Given the description of an element on the screen output the (x, y) to click on. 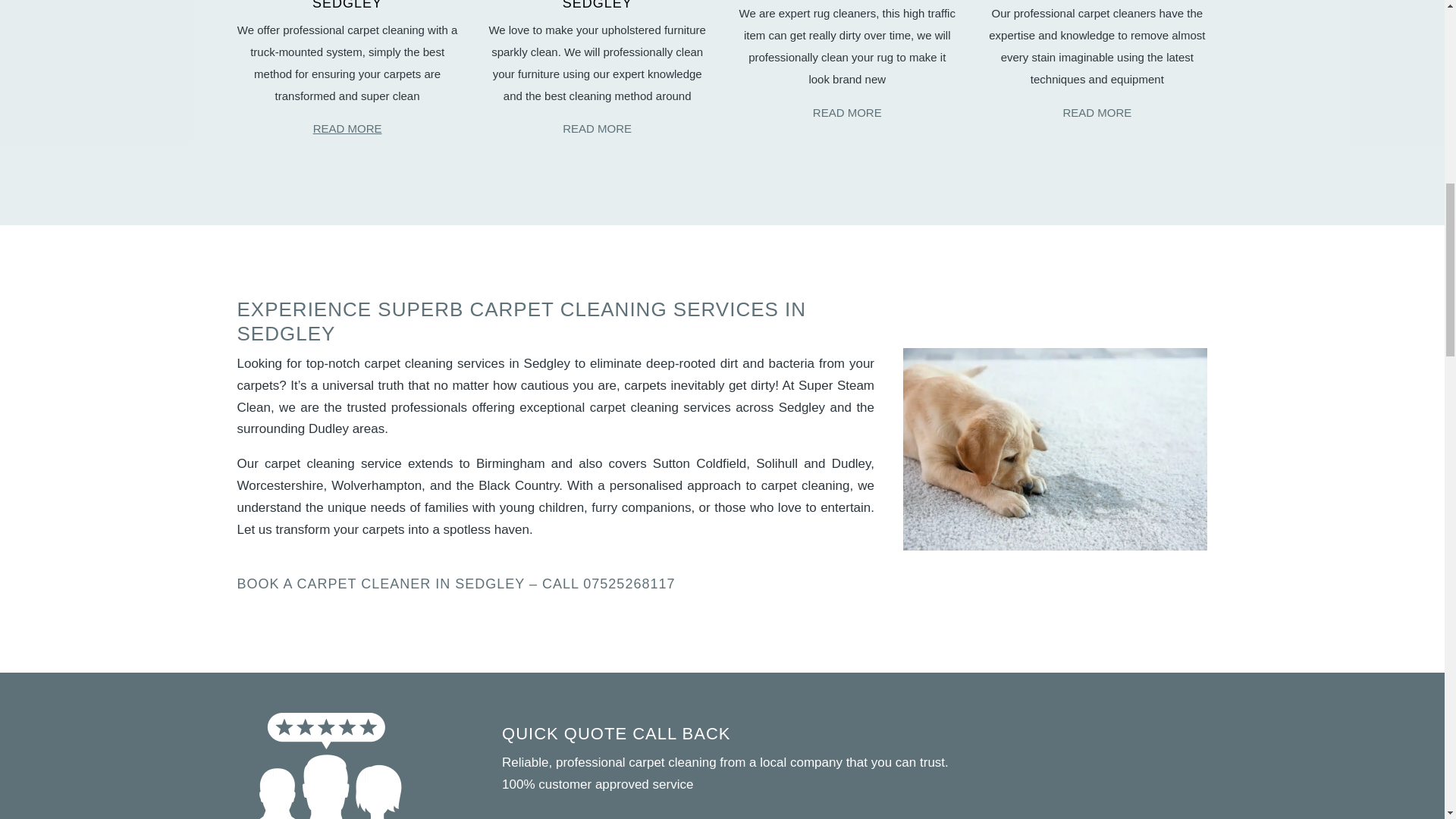
READ MORE (596, 128)
UPHOLSTERY CLEANING SEDGLEY (596, 5)
READ MORE (347, 128)
carpet cleaning Sedgley by super steam clean (1054, 449)
READ MORE (1096, 112)
READ MORE (847, 112)
CARPET CLEANING SERVICES SEDGLEY (347, 5)
